Given the description of an element on the screen output the (x, y) to click on. 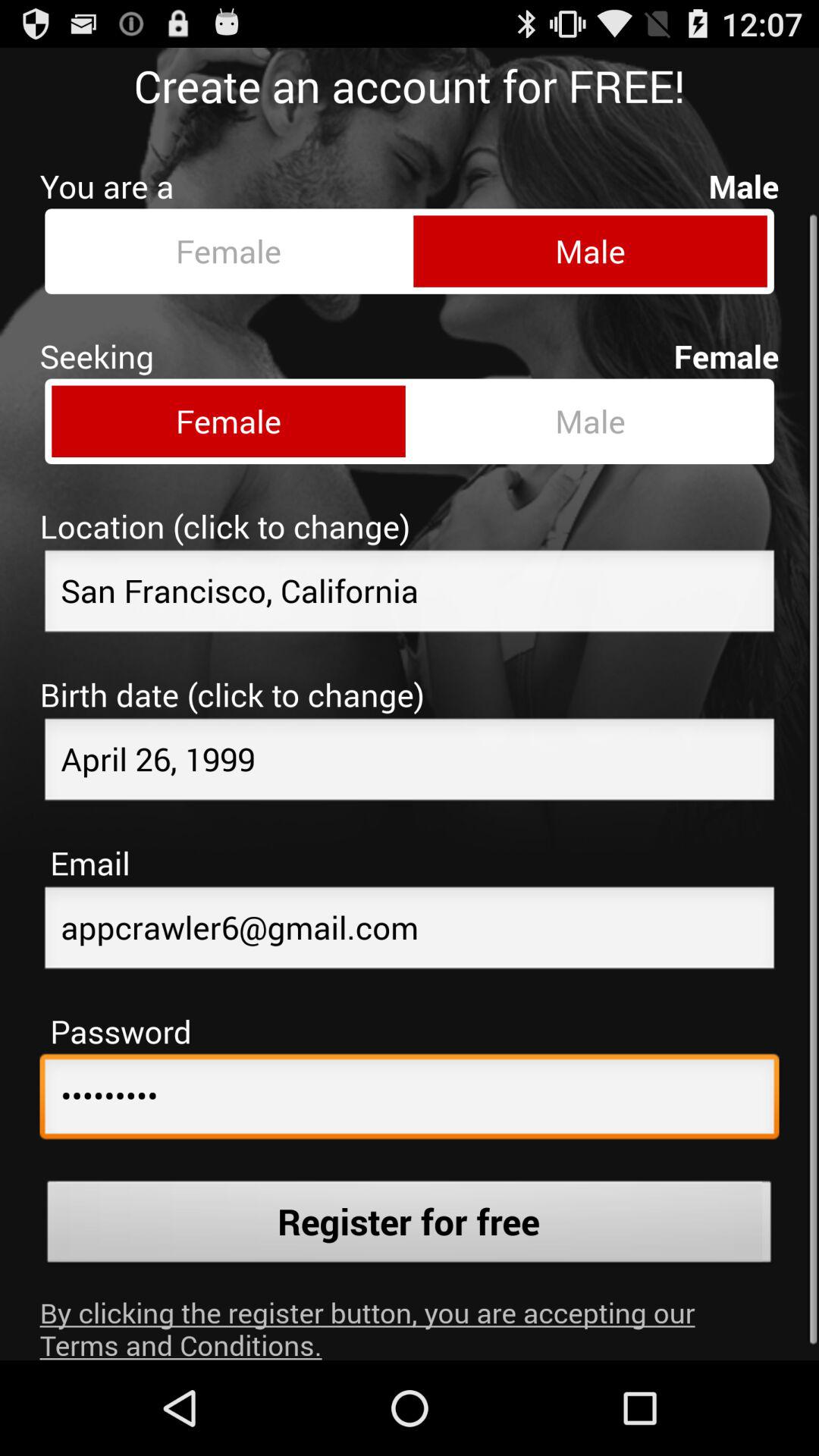
enter current location (409, 581)
